Given the description of an element on the screen output the (x, y) to click on. 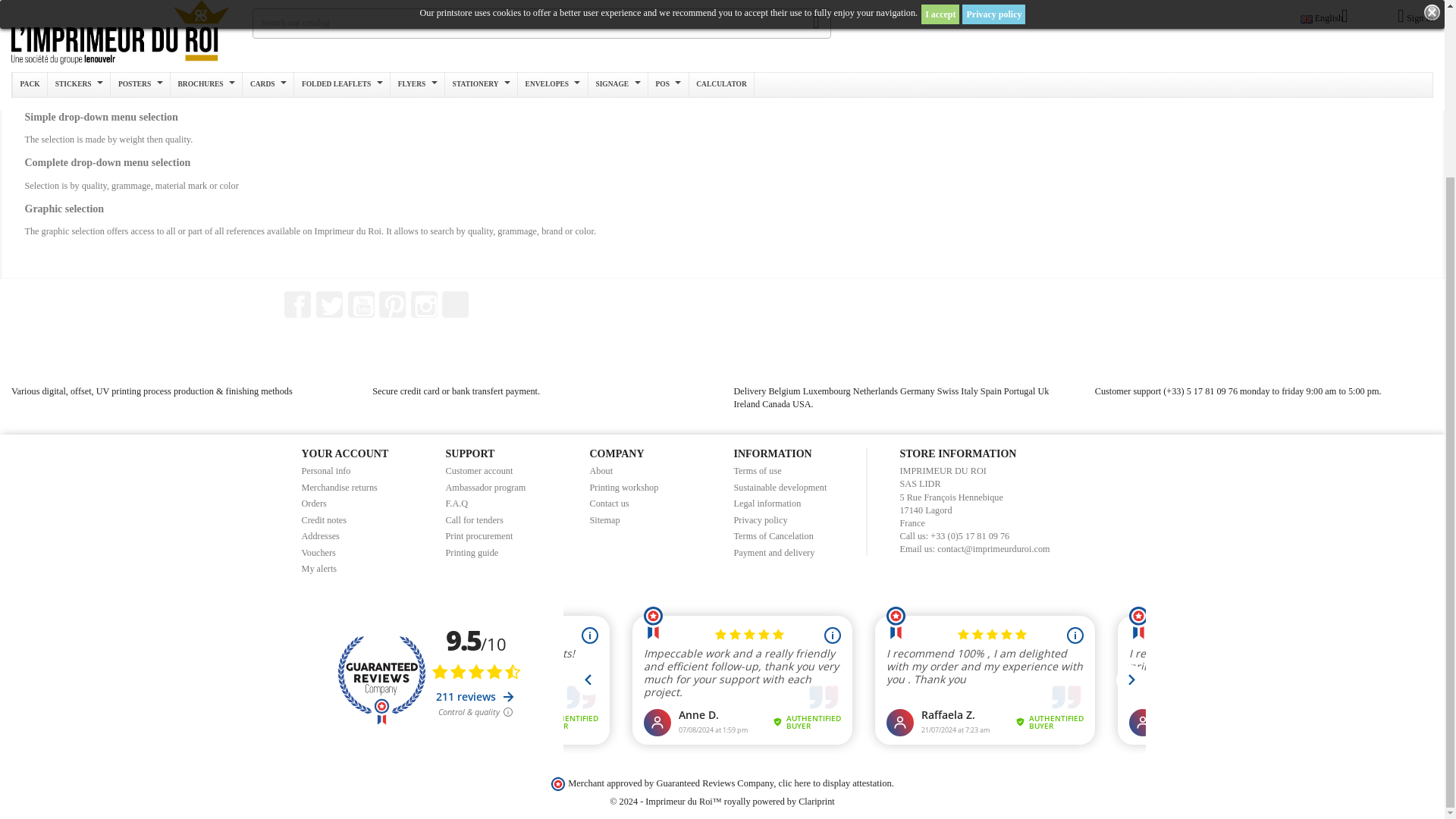
My alerts (319, 568)
Use our form to contact us (608, 502)
Credit notes (324, 520)
Addresses (320, 535)
Lost ? Find what your are looking for (604, 520)
Vouchers (318, 552)
